Given the description of an element on the screen output the (x, y) to click on. 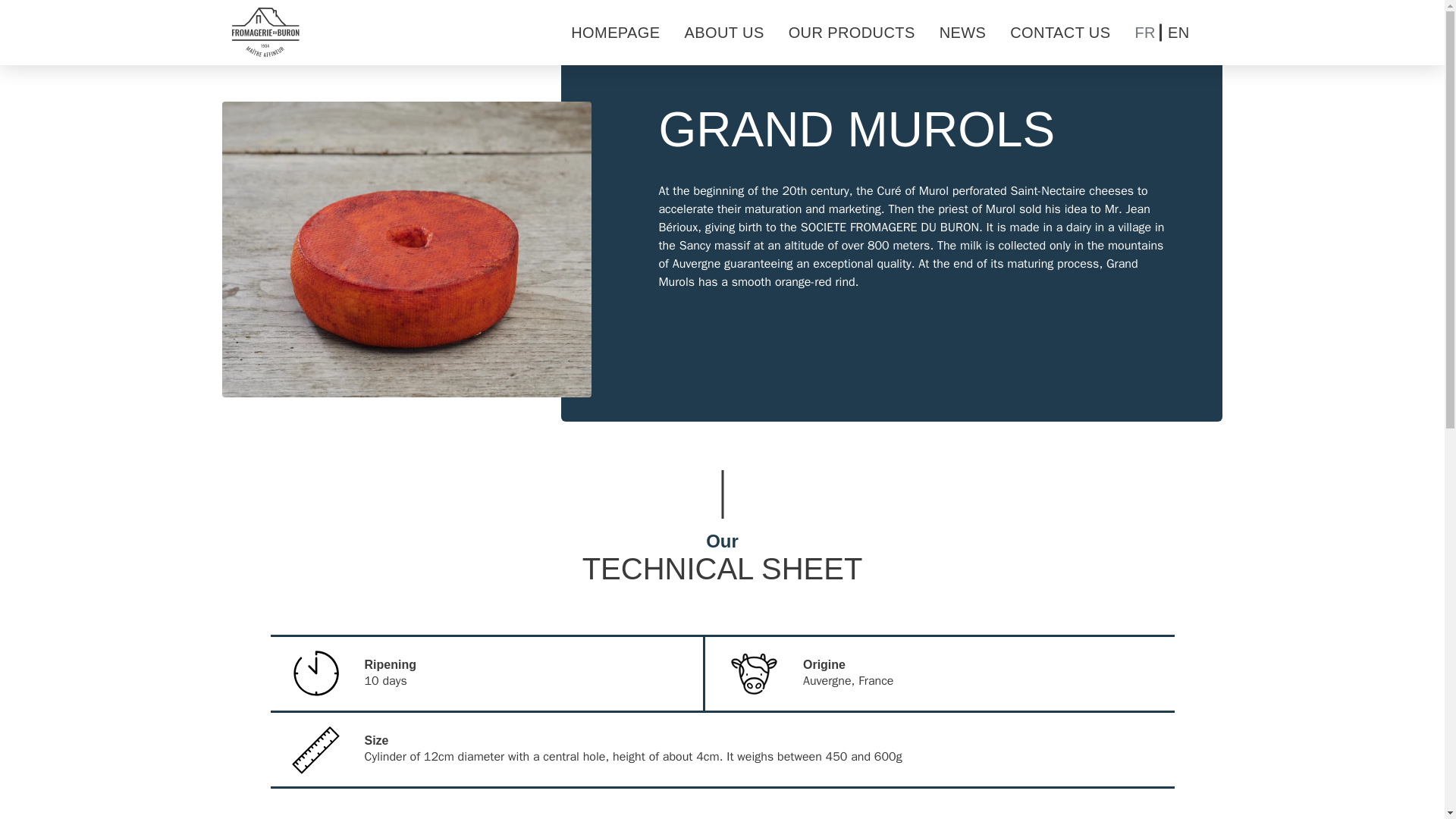
ABOUT US (724, 32)
EN (1178, 32)
OUR PRODUCTS (852, 32)
HOMEPAGE (614, 32)
NEWS (963, 32)
CONTACT US (1059, 32)
FR (1144, 32)
